Given the description of an element on the screen output the (x, y) to click on. 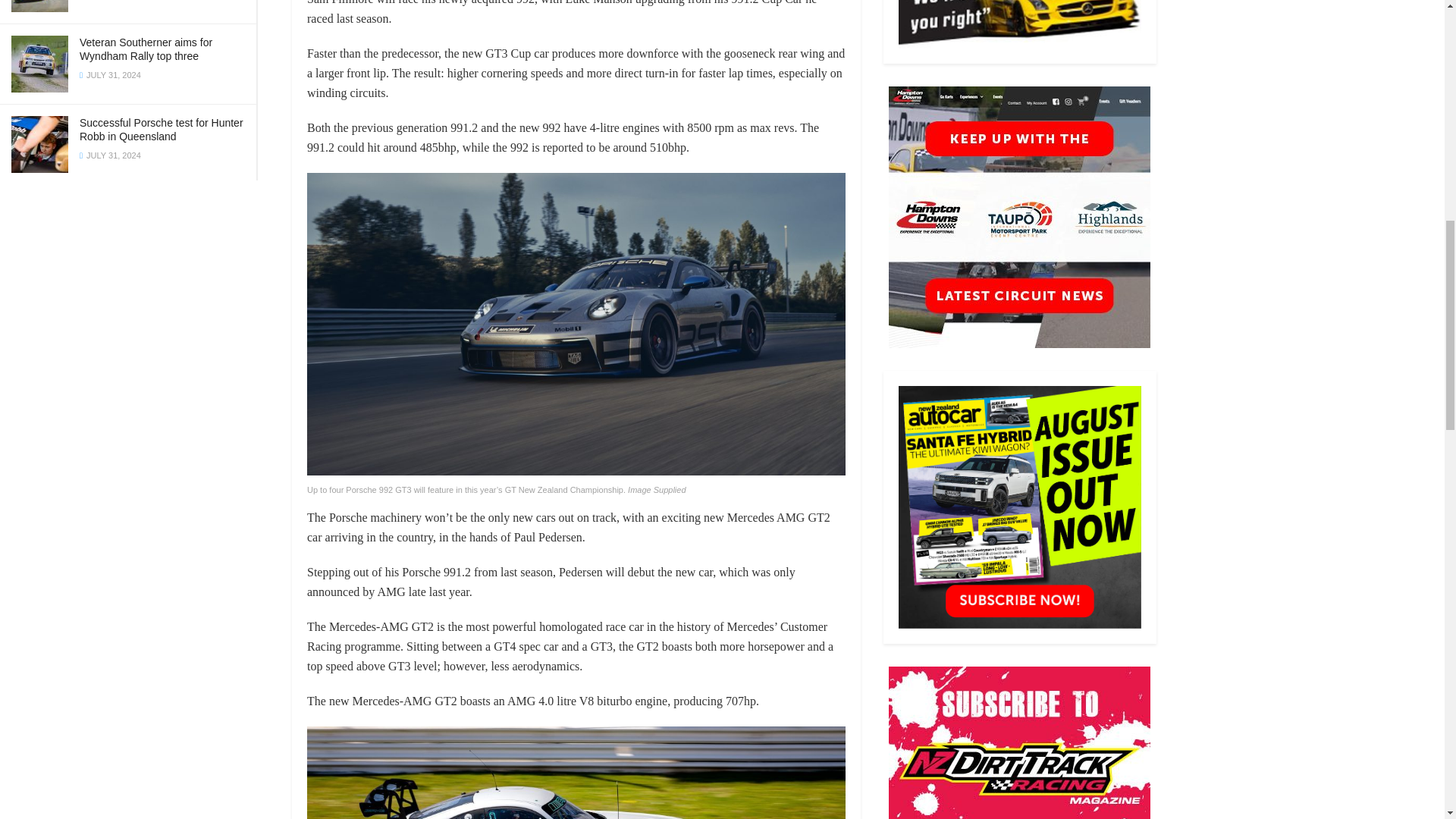
Successful Porsche test for Hunter Robb in Queensland (161, 129)
Veteran Southerner aims for Wyndham Rally top three (146, 49)
